Given the description of an element on the screen output the (x, y) to click on. 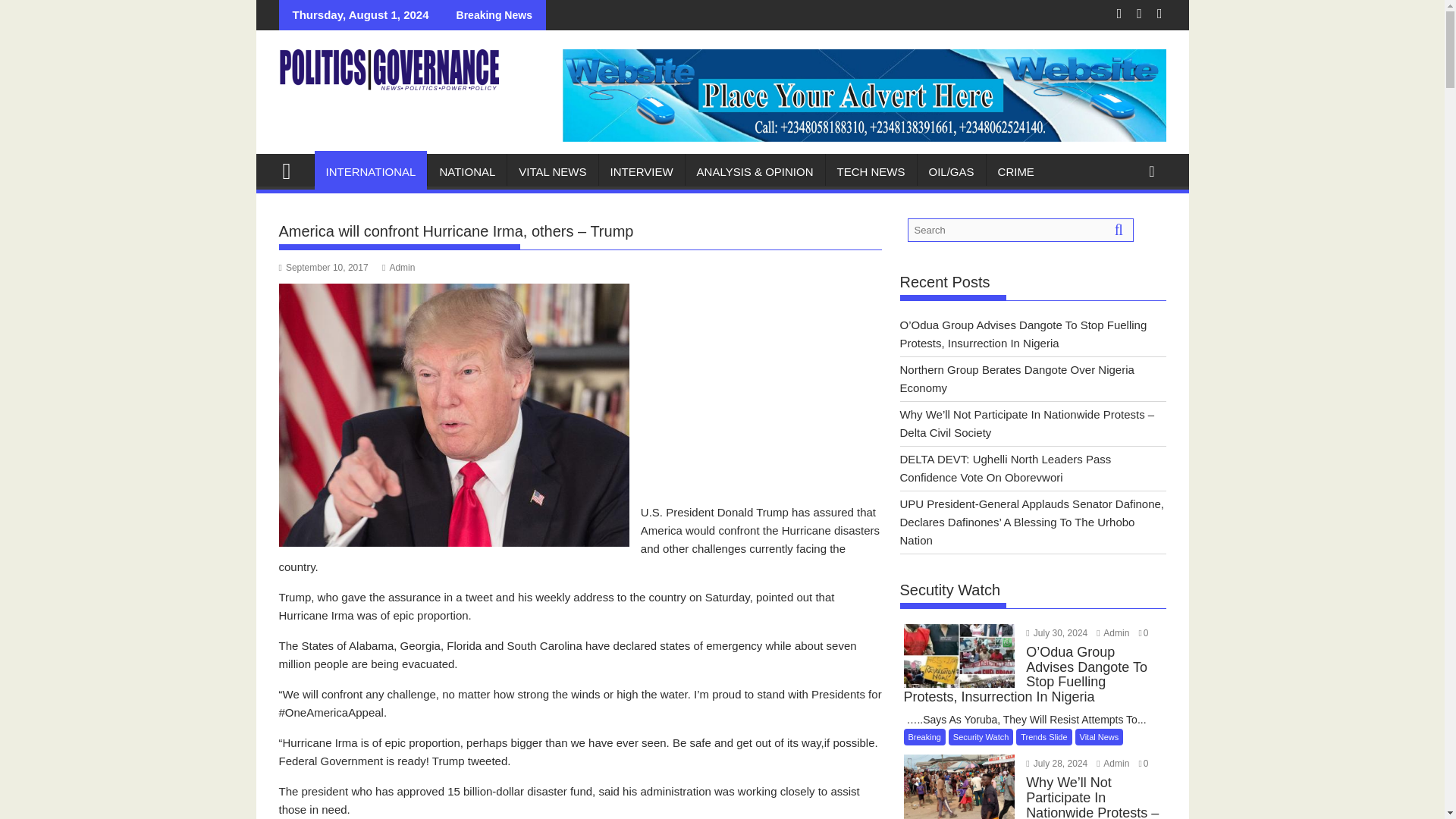
INTERVIEW (641, 171)
Advertisement (580, 658)
TECH NEWS (871, 171)
VITAL NEWS (551, 171)
Politics Governance (293, 169)
NATIONAL (467, 171)
September 10, 2017 (323, 267)
INTERNATIONAL (370, 171)
Admin (397, 267)
CRIME (1016, 171)
